Given the description of an element on the screen output the (x, y) to click on. 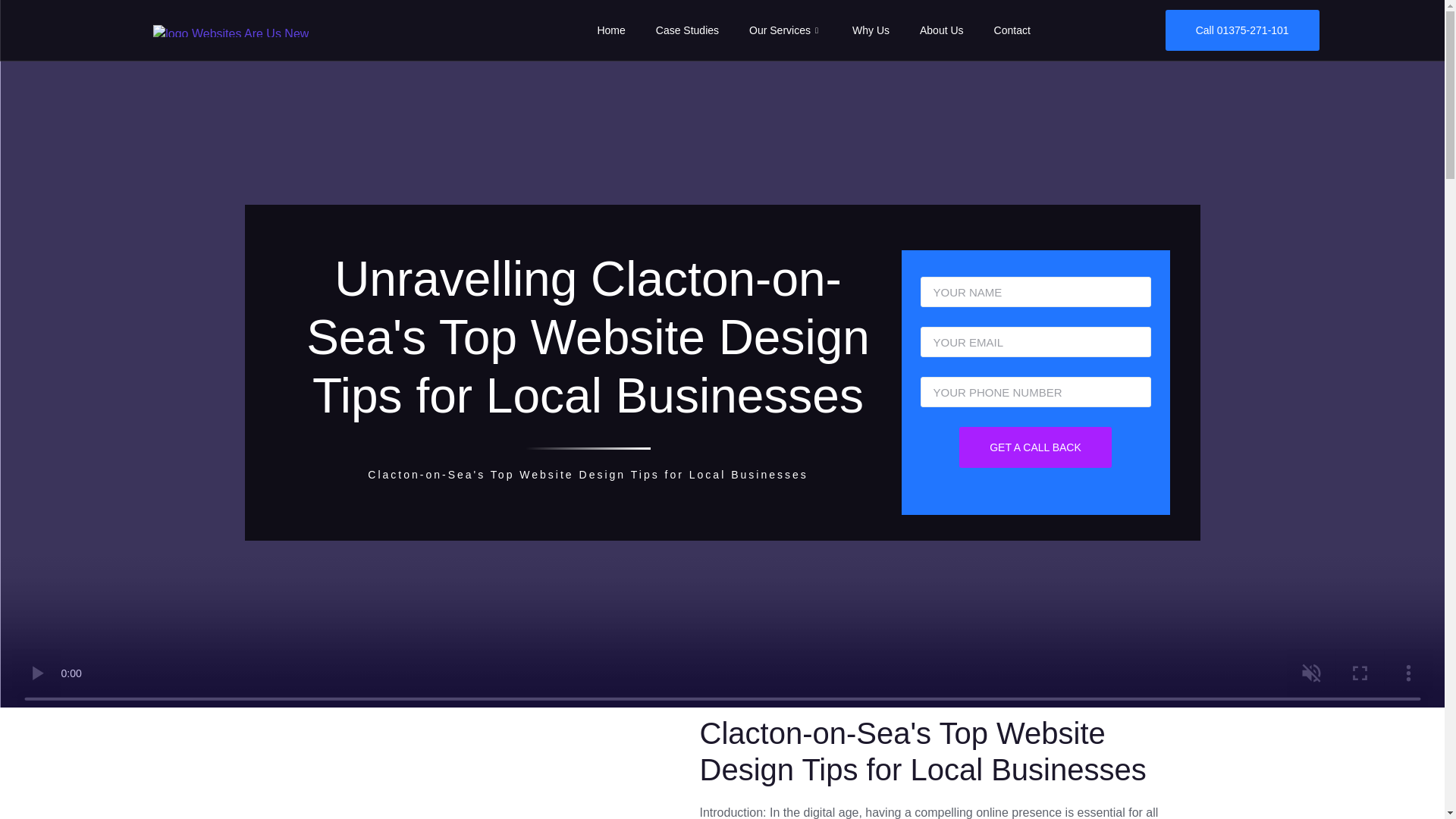
Our Services (785, 30)
About Us (941, 30)
Why Us (870, 30)
Home (610, 30)
GET A CALL BACK (1035, 446)
Case Studies (686, 30)
Contact (1011, 30)
Call 01375-271-101 (1242, 29)
